Given the description of an element on the screen output the (x, y) to click on. 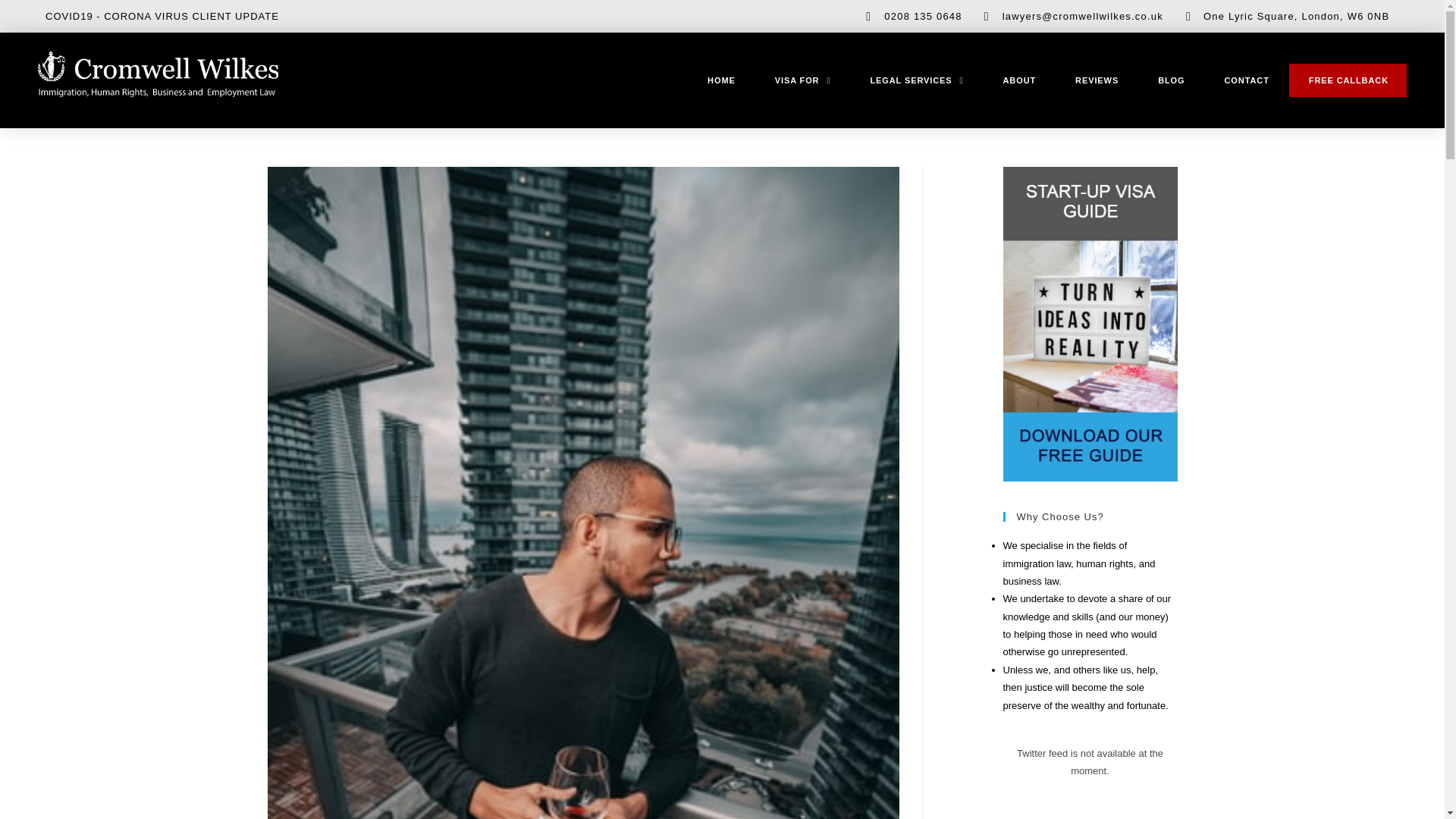
0208 135 0648 (908, 16)
BLOG (1171, 80)
CONTACT (1247, 80)
HOME (721, 80)
REVIEWS (1097, 80)
VISA FOR (802, 80)
COVID19 - CORONA VIRUS CLIENT UPDATE (162, 16)
FREE CALLBACK (1348, 80)
ABOUT (1019, 80)
LEGAL SERVICES (916, 80)
